Given the description of an element on the screen output the (x, y) to click on. 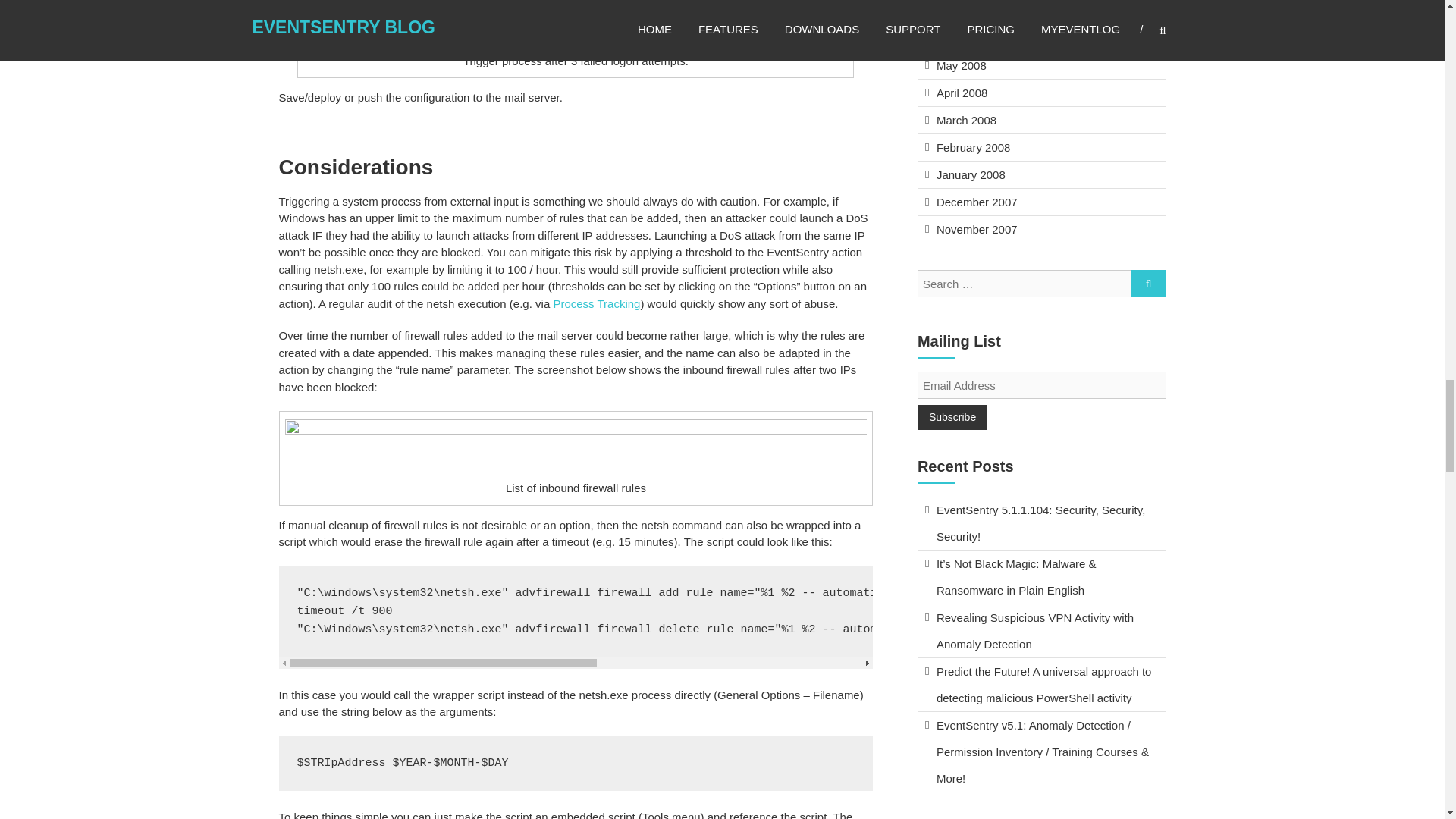
Process Tracking (596, 303)
Subscribe (952, 416)
